Given the description of an element on the screen output the (x, y) to click on. 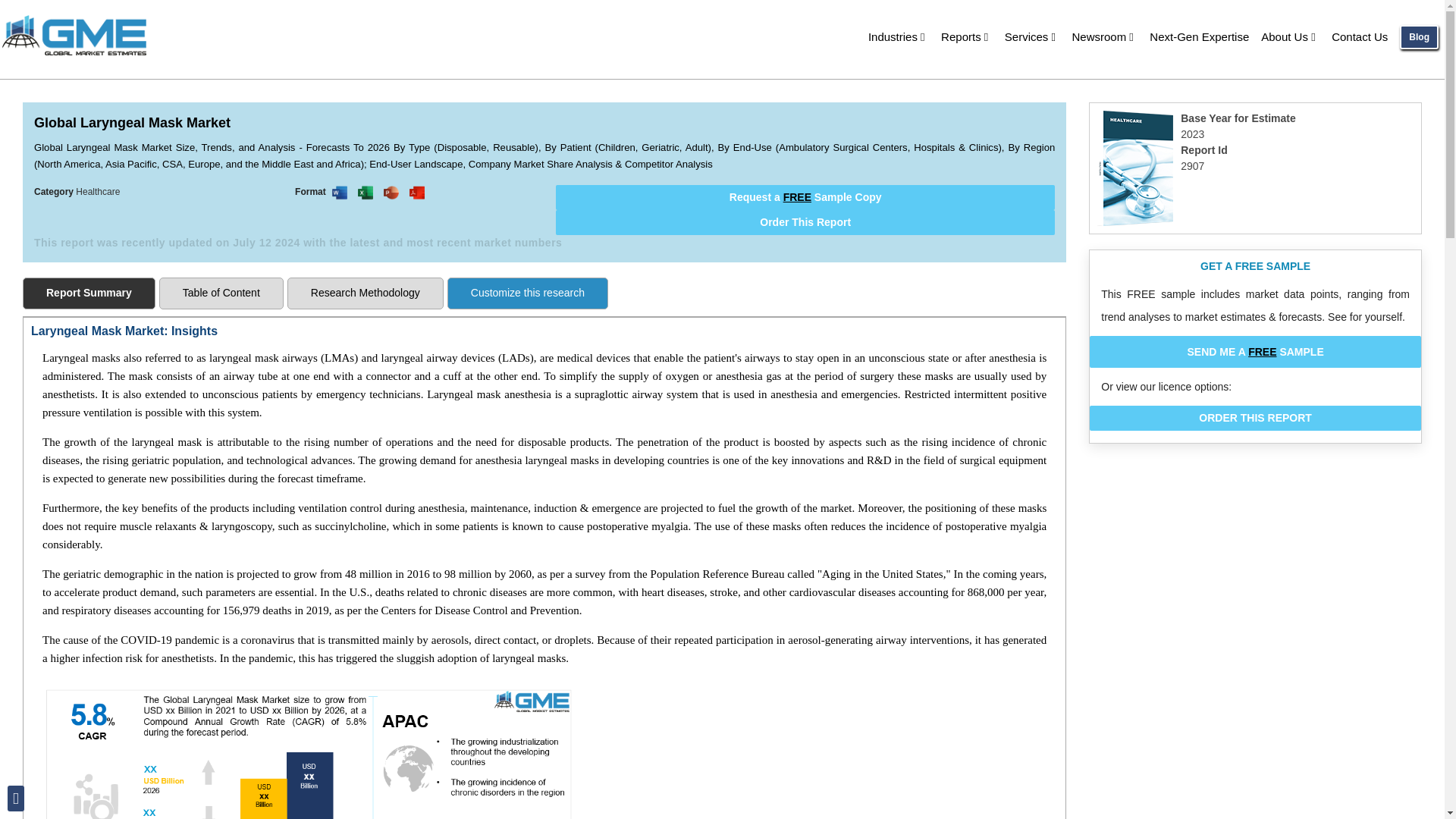
This report is available in EXCEL SHEET format (365, 192)
This report is available in PDF format (417, 192)
This report is available in PPT format (391, 192)
This report is available as WORD DOCUMENT (339, 192)
Industries (897, 37)
